Given the description of an element on the screen output the (x, y) to click on. 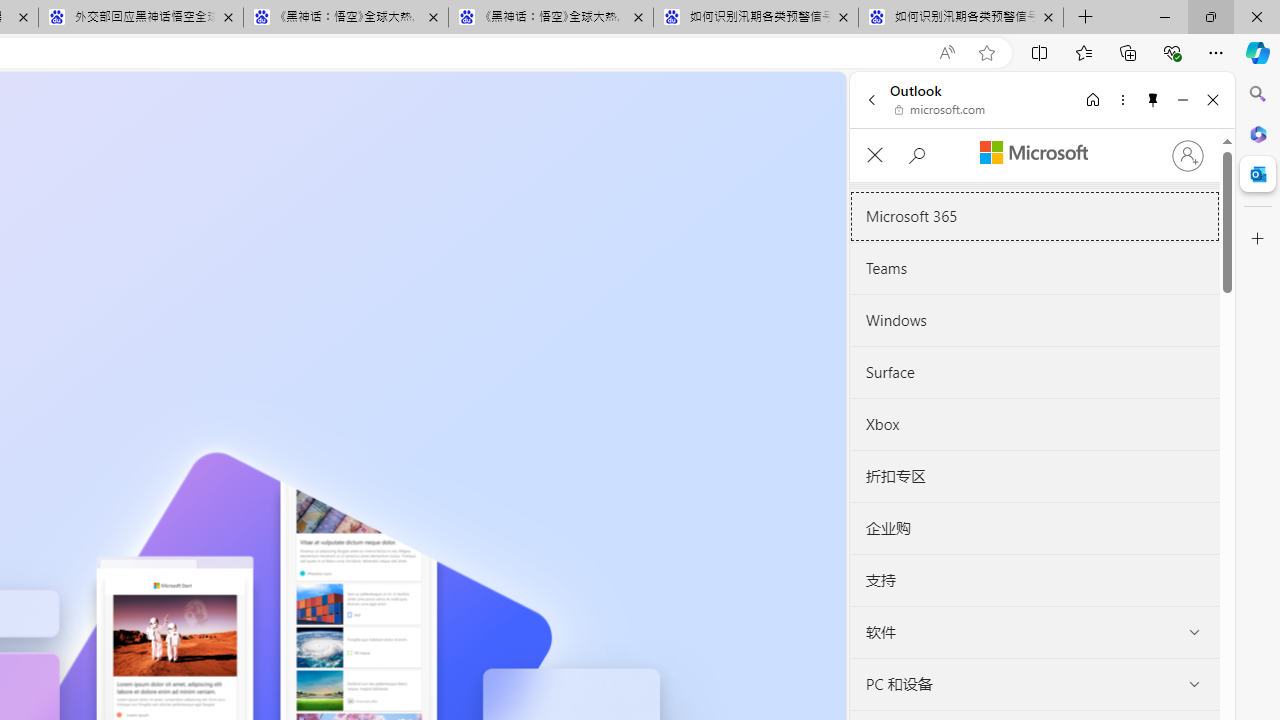
Windows (1034, 321)
Xbox (1034, 424)
Close All Microsoft list (874, 155)
Surface (1034, 372)
